Given the description of an element on the screen output the (x, y) to click on. 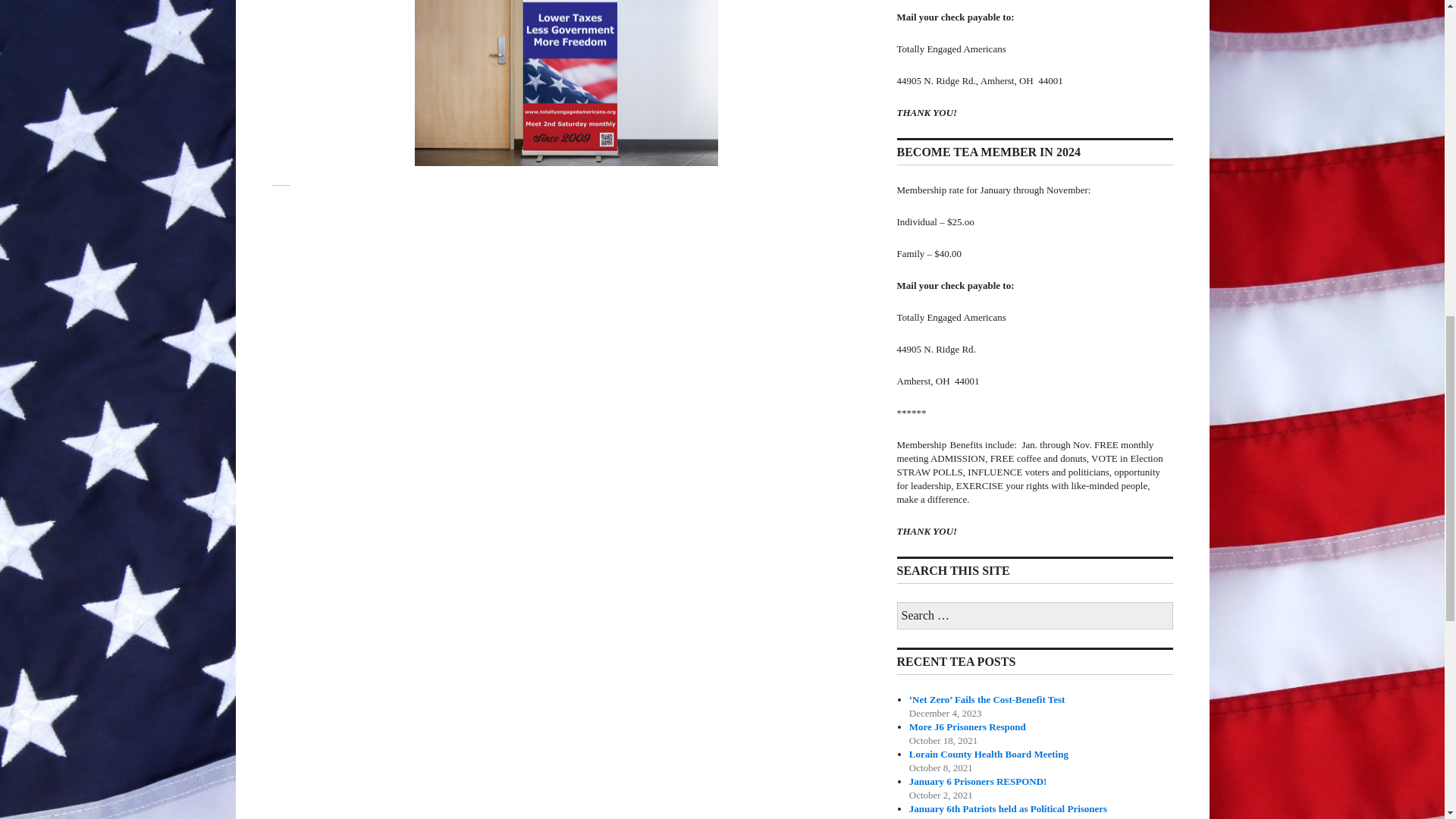
More J6 Prisoners Respond (967, 726)
January 6th Patriots held as Political Prisoners (1007, 808)
Lorain County Health Board Meeting (988, 754)
January 6 Prisoners RESPOND! (977, 781)
